Given the description of an element on the screen output the (x, y) to click on. 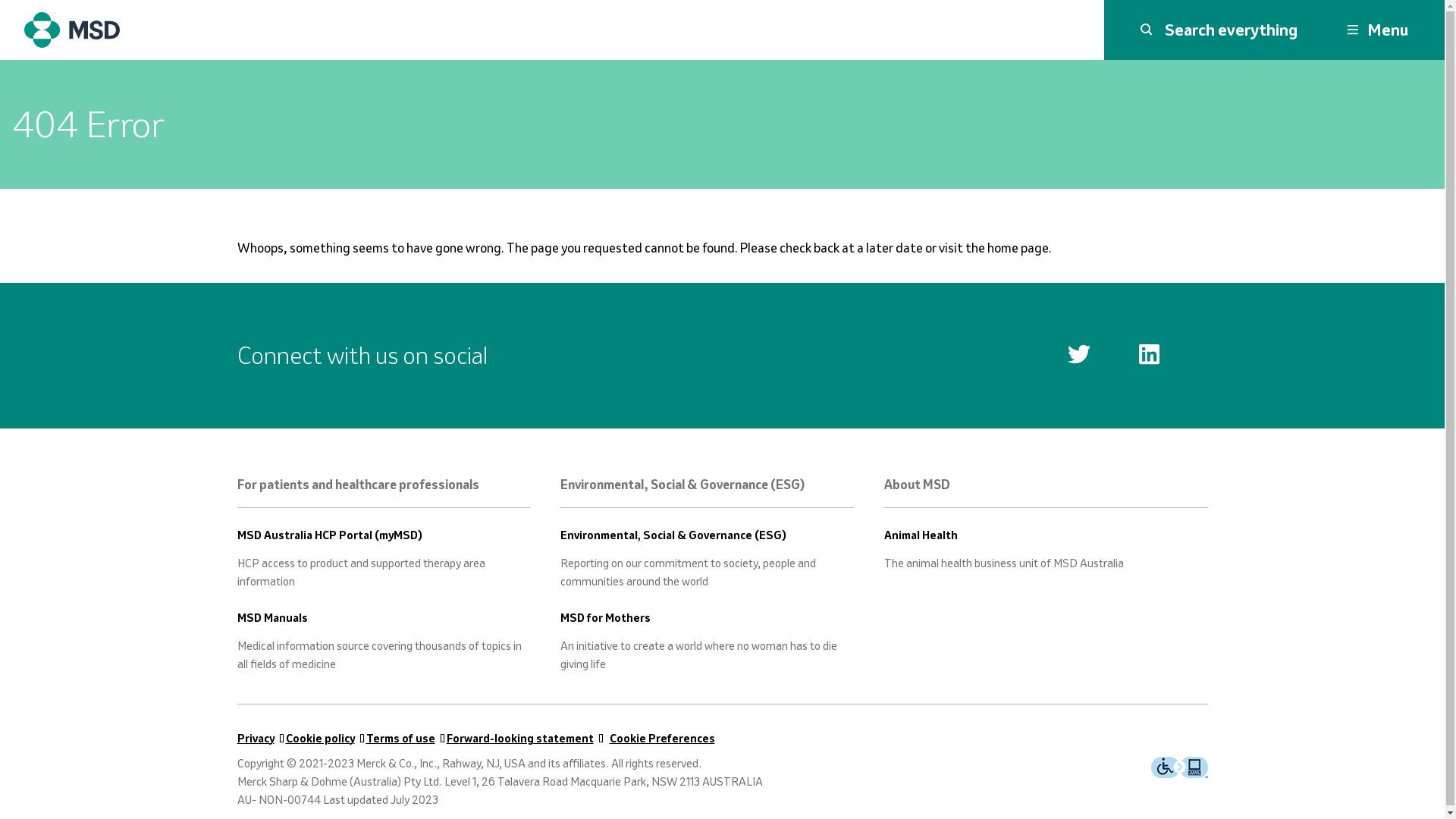
Forward-looking statement Element type: text (519, 738)
Animal Health Element type: text (920, 536)
Cookie policy Element type: text (319, 738)
Cookie Preferences Element type: text (662, 738)
MSD Australia HCP Portal (myMSD) Element type: text (328, 536)
Environmental, Social & Governance (ESG) Element type: text (673, 536)
Privacy Element type: text (254, 738)
Search everything Element type: text (1218, 30)
Terms of use Element type: text (399, 738)
MSD Manuals Element type: text (271, 618)
Menu Element type: text (1376, 30)
MSD for Mothers Element type: text (605, 618)
Cookie Preferences Element type: text (662, 738)
MSD Australia Element type: hover (83, 29)
